Given the description of an element on the screen output the (x, y) to click on. 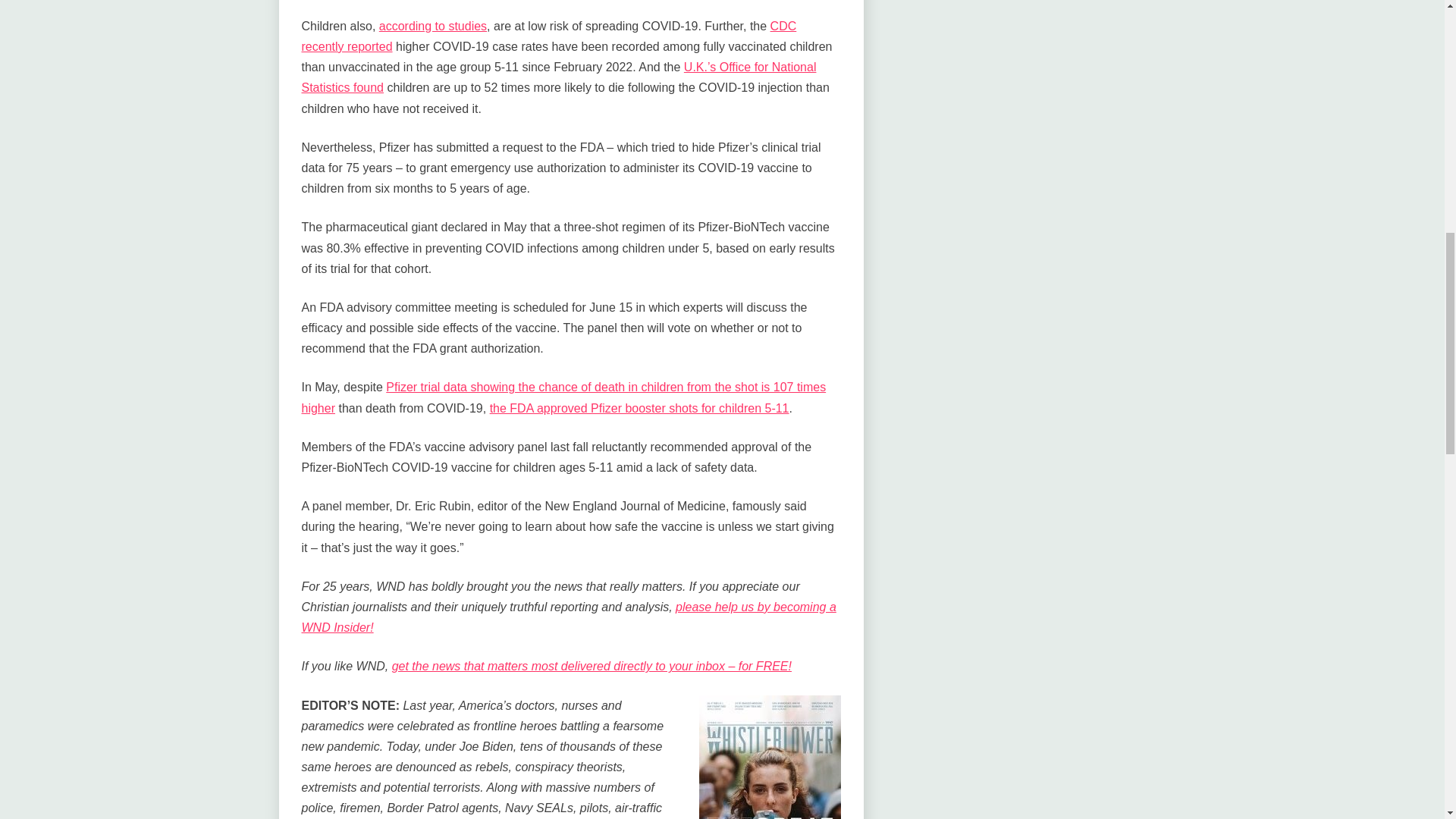
please help us by becoming a WND Insider! (568, 616)
according to studies (432, 25)
CDC recently reported (548, 36)
the FDA approved Pfizer booster shots for children 5-11 (639, 408)
